Given the description of an element on the screen output the (x, y) to click on. 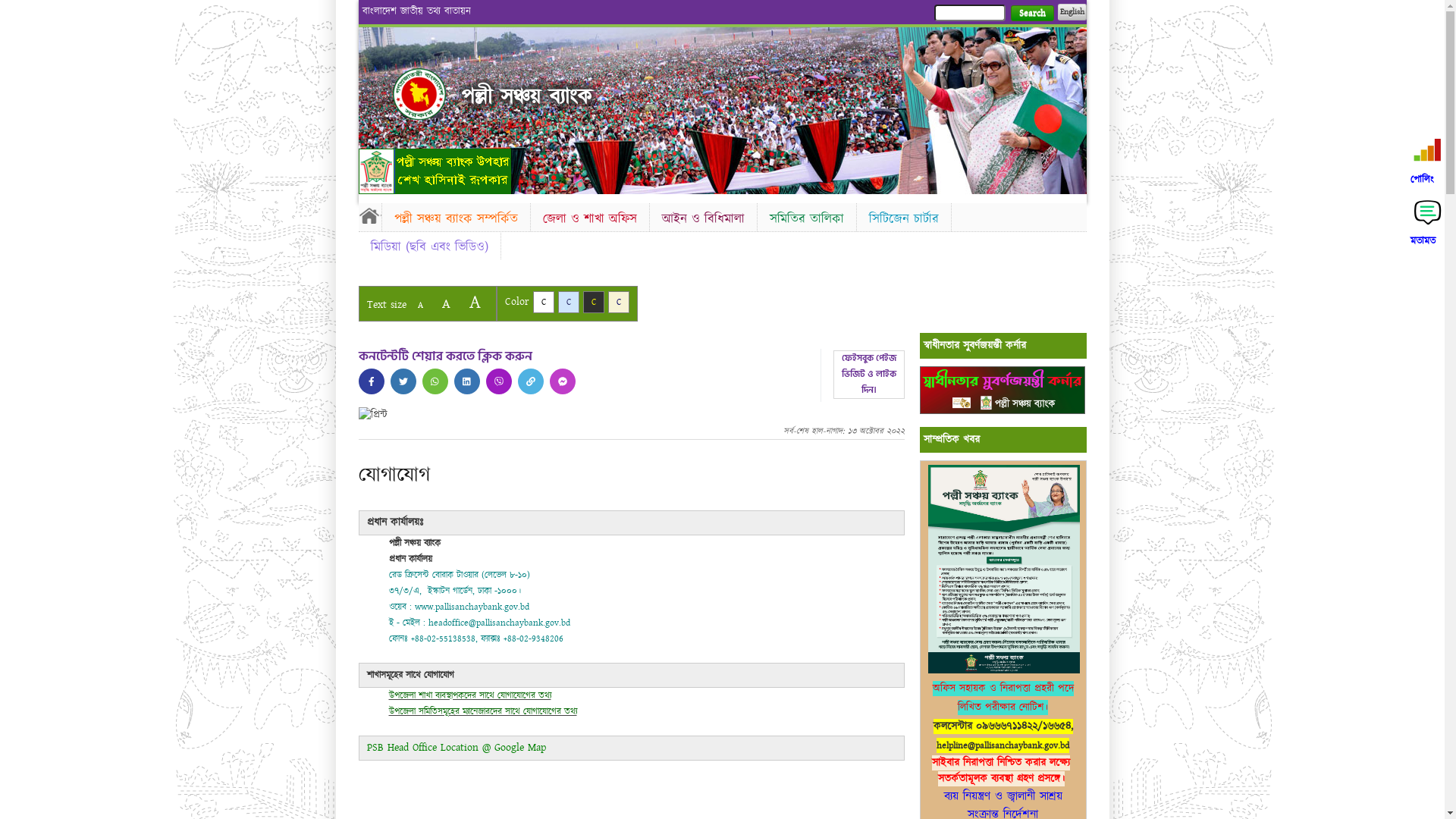
A Element type: text (419, 304)
Search Element type: text (1031, 13)
A Element type: text (474, 302)
A Element type: text (445, 303)
PSB Head Office Location @ Google Map Element type: text (456, 747)
C Element type: text (568, 302)
Home Element type: hover (368, 215)
C Element type: text (542, 302)
English Element type: text (1071, 11)
C Element type: text (592, 302)
Home Element type: hover (418, 93)
C Element type: text (618, 302)
